Given the description of an element on the screen output the (x, y) to click on. 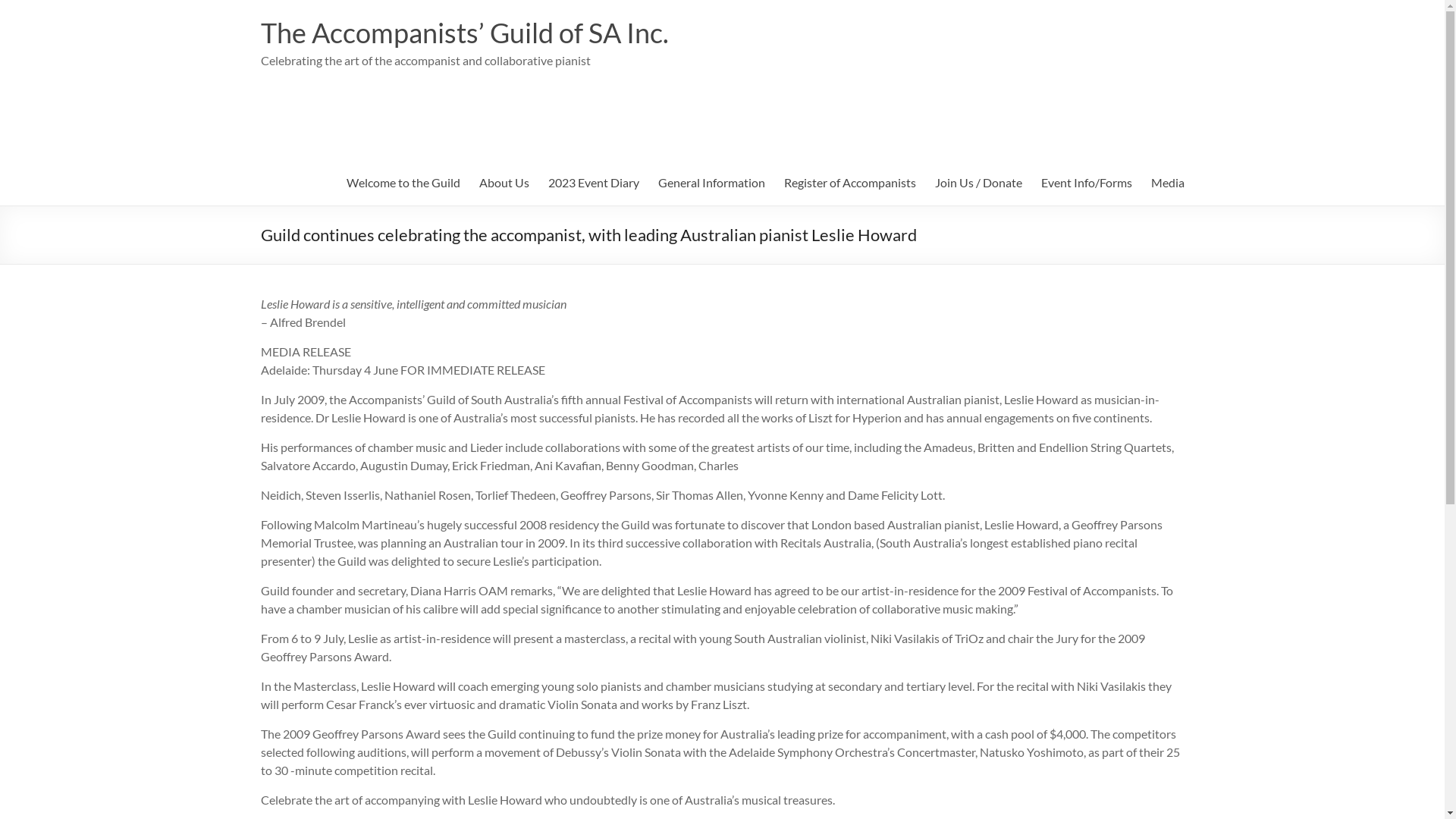
2023 Event Diary Element type: text (592, 182)
Event Info/Forms Element type: text (1085, 182)
Register of Accompanists Element type: text (850, 182)
Welcome to the Guild Element type: text (402, 182)
Media Element type: text (1167, 182)
About Us Element type: text (504, 182)
Join Us / Donate Element type: text (977, 182)
General Information Element type: text (711, 182)
